Given the description of an element on the screen output the (x, y) to click on. 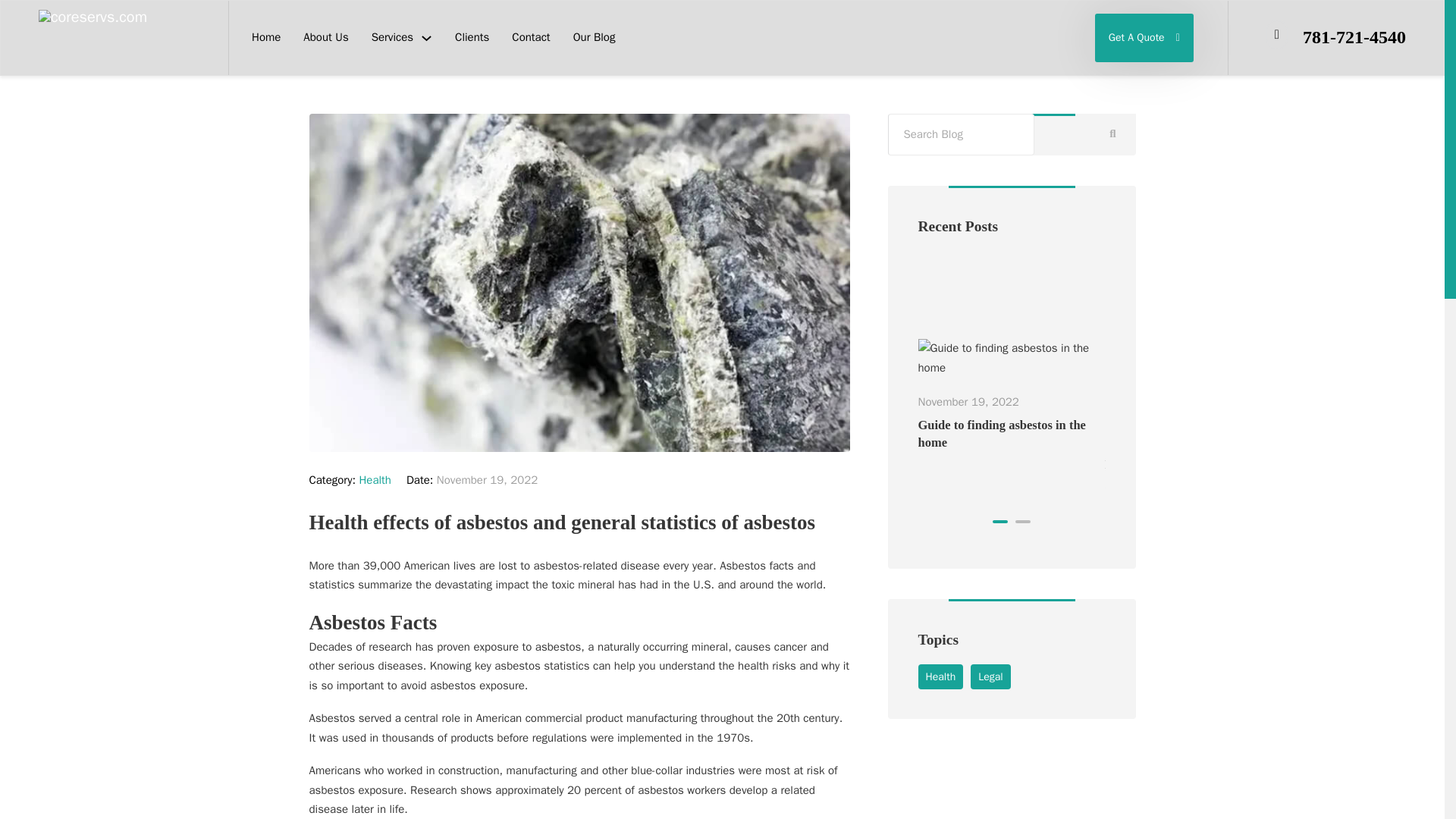
Clients (471, 37)
Our Blog (594, 37)
Services (392, 37)
Legal (990, 676)
Contact (531, 37)
781-721-4540 (1354, 36)
Home (266, 37)
About Us (324, 37)
Health (374, 479)
Health (939, 676)
